Given the description of an element on the screen output the (x, y) to click on. 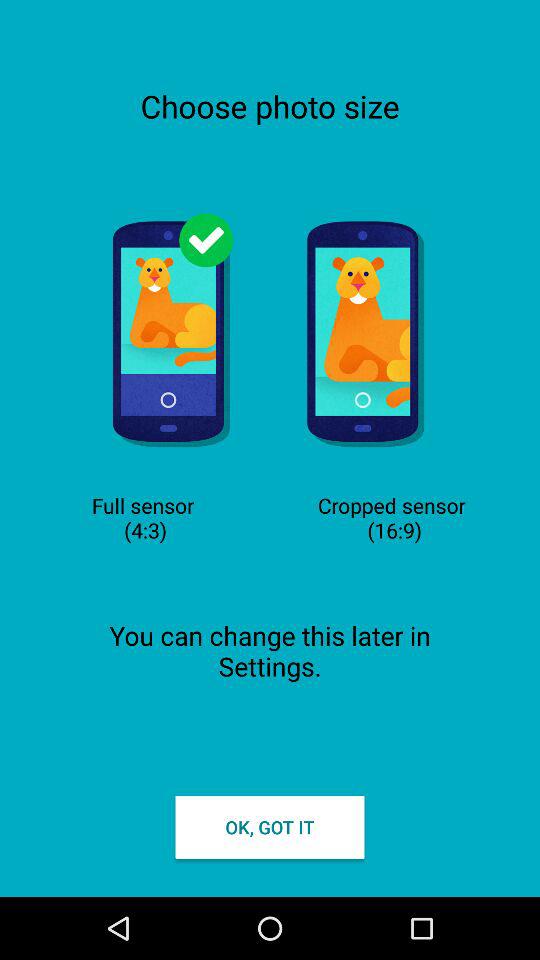
launch ok, got it button (269, 826)
